Given the description of an element on the screen output the (x, y) to click on. 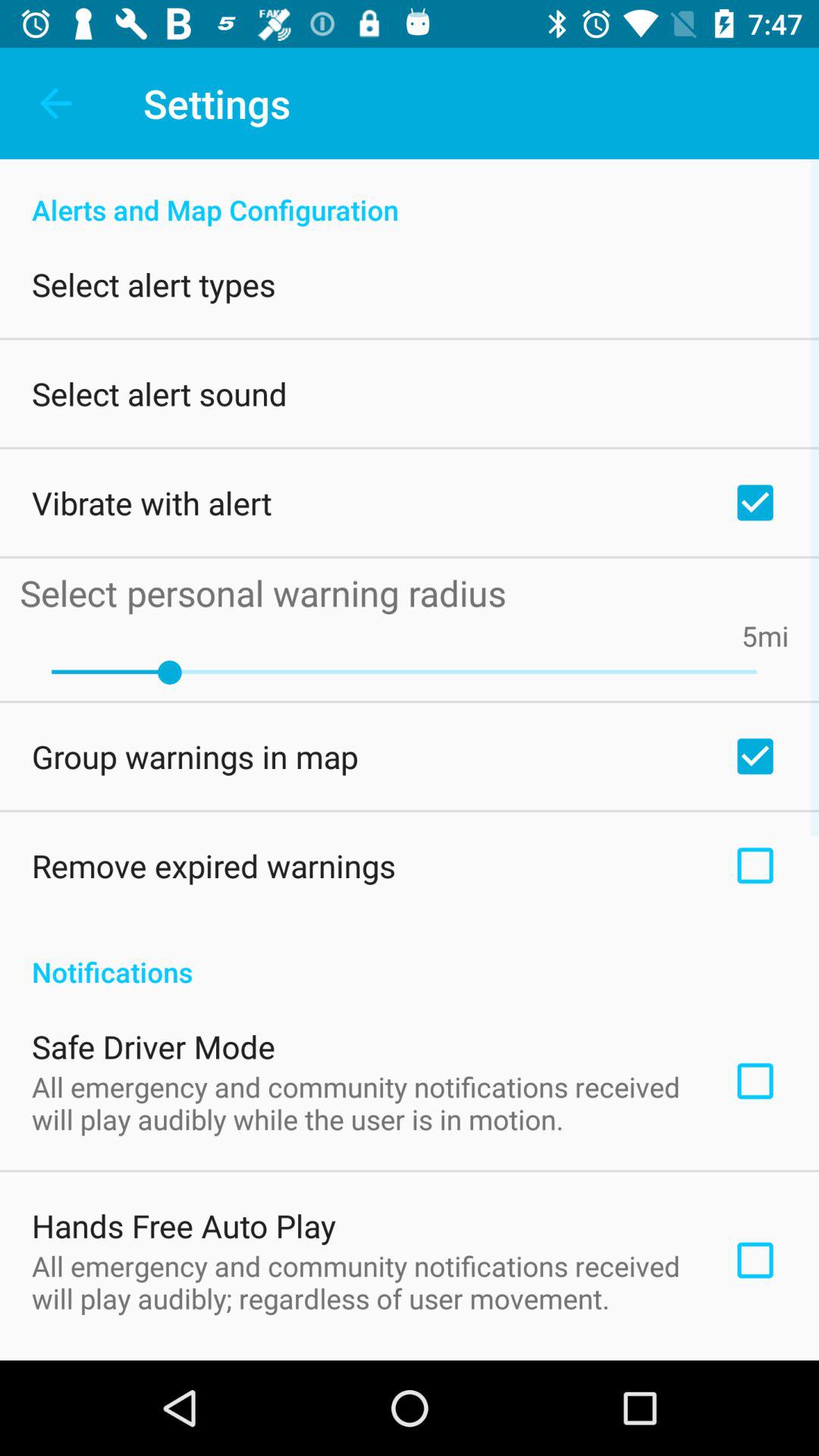
jump until the alerts and map app (409, 193)
